Given the description of an element on the screen output the (x, y) to click on. 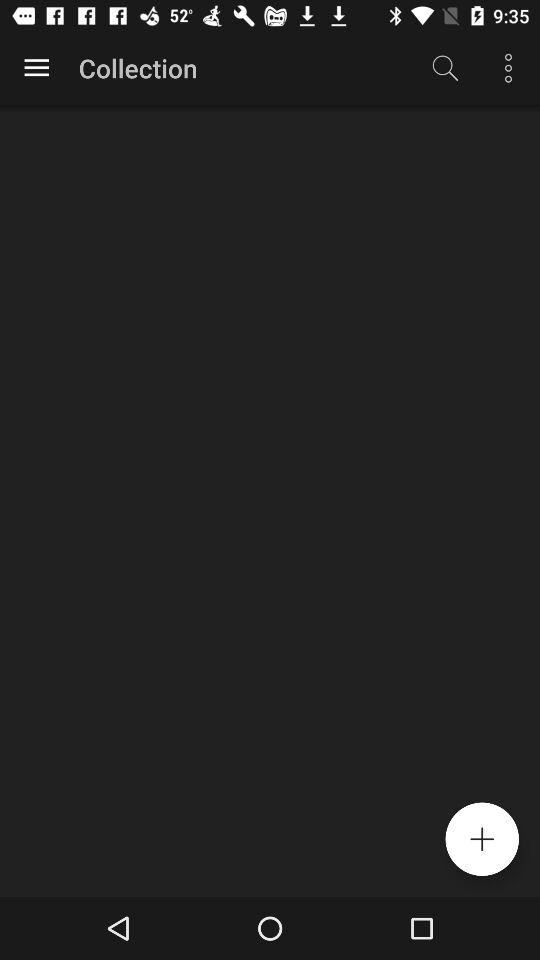
additional option (482, 839)
